Given the description of an element on the screen output the (x, y) to click on. 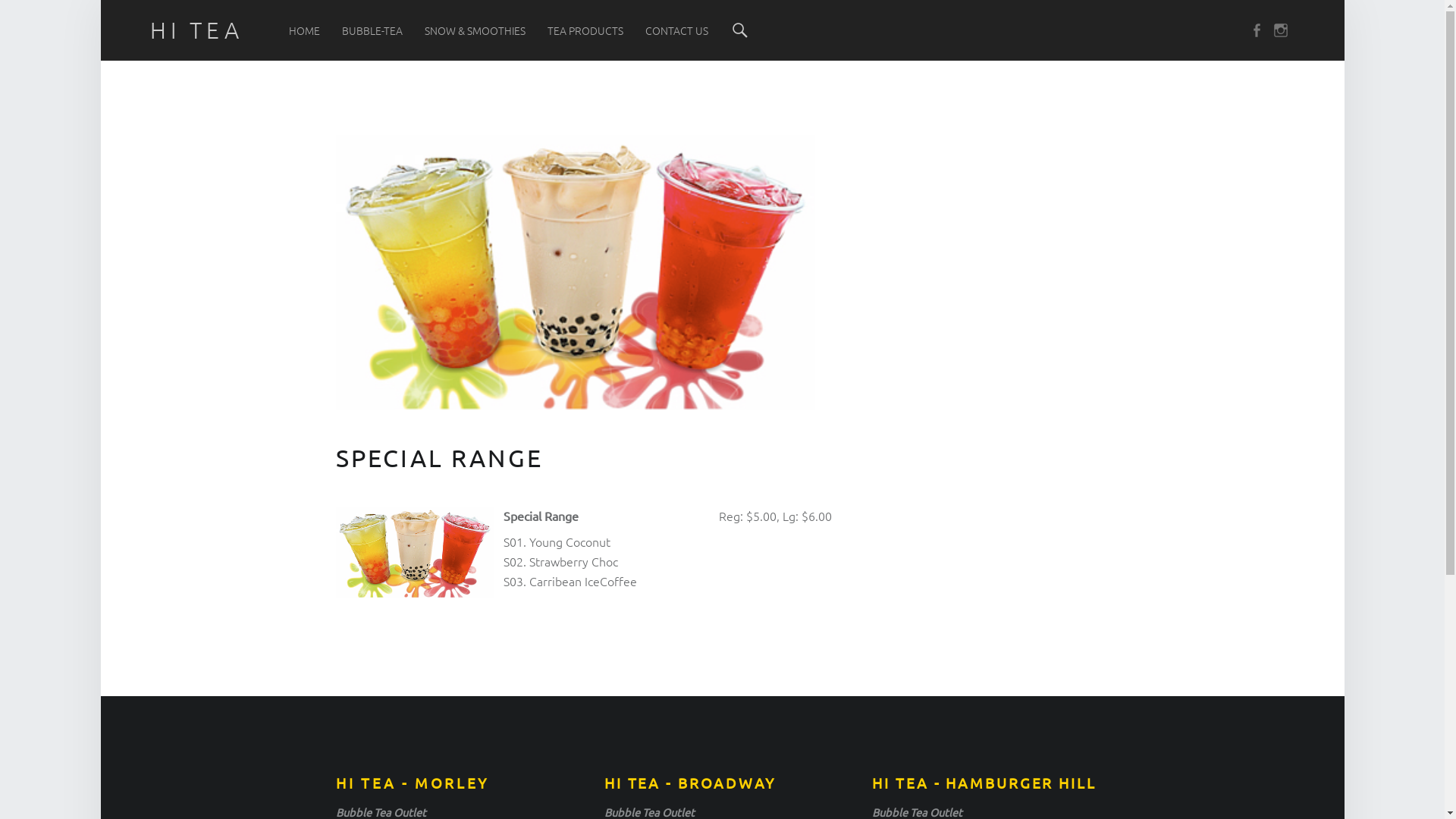
HI TEA Element type: text (196, 29)
Instagram Element type: text (1283, 30)
Special Range Element type: hover (414, 551)
CONTACT US Element type: text (676, 30)
HOME Element type: text (304, 30)
Search Element type: text (739, 30)
Facebook Element type: text (1259, 30)
SNOW & SMOOTHIES Element type: text (474, 30)
TEA PRODUCTS Element type: text (585, 30)
BUBBLE-TEA Element type: text (372, 30)
